Given the description of an element on the screen output the (x, y) to click on. 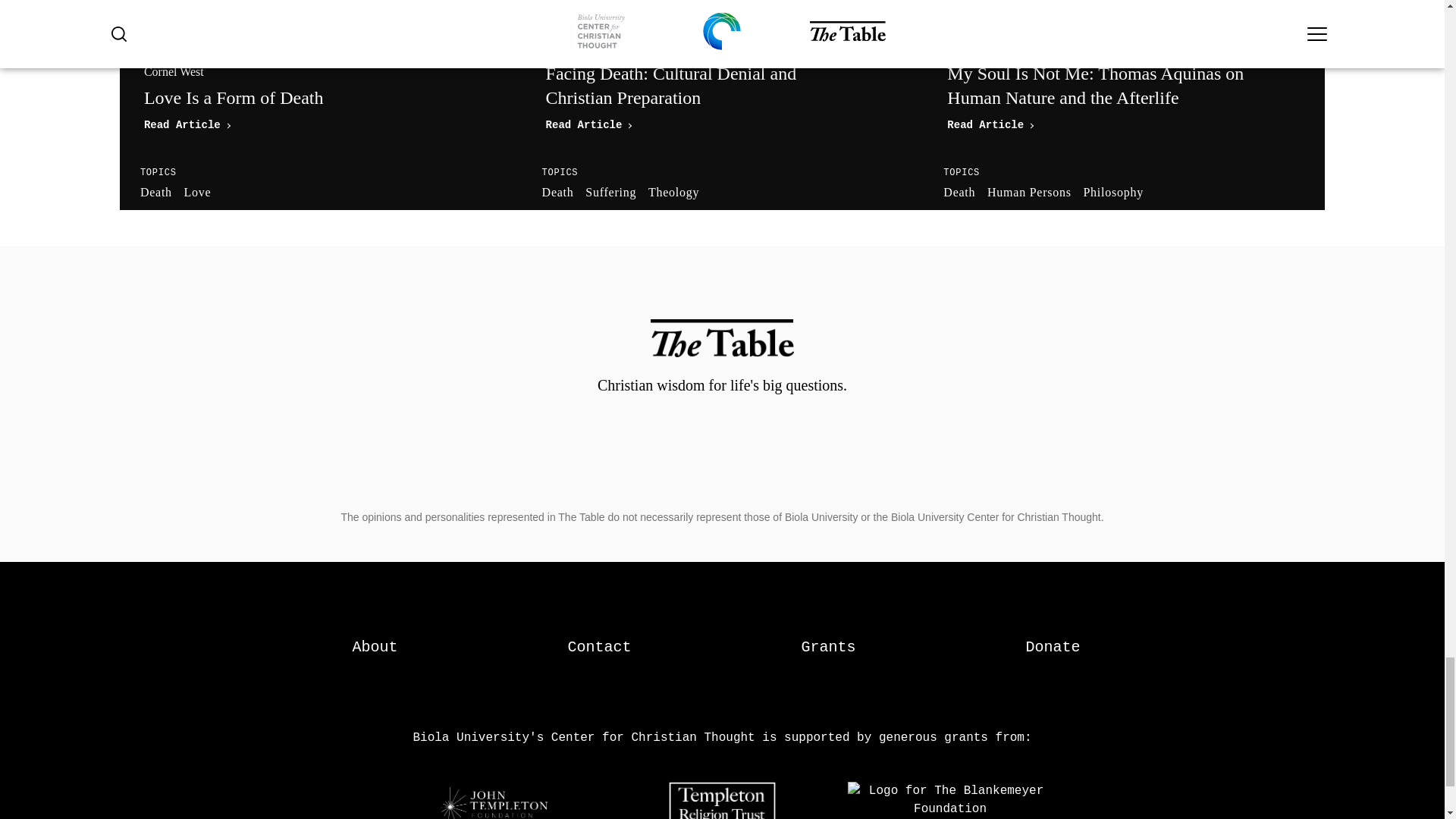
Go to page Grants (828, 647)
About (374, 647)
Go to page Donate (1052, 647)
Go to page Contact (599, 647)
Go to page About (320, 97)
Contact (374, 647)
